Given the description of an element on the screen output the (x, y) to click on. 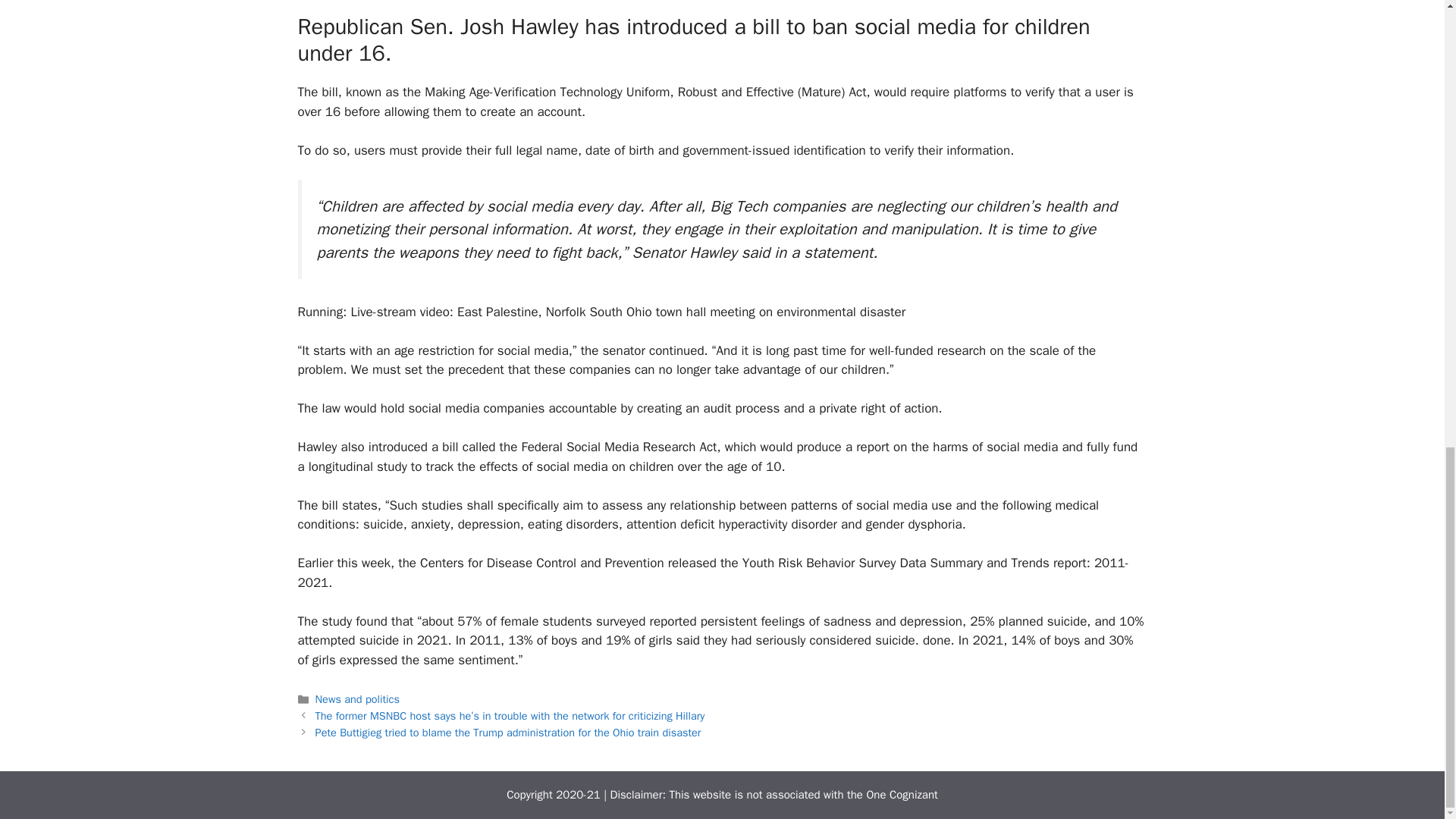
News and politics (356, 698)
One Cognizant (901, 794)
